Given the description of an element on the screen output the (x, y) to click on. 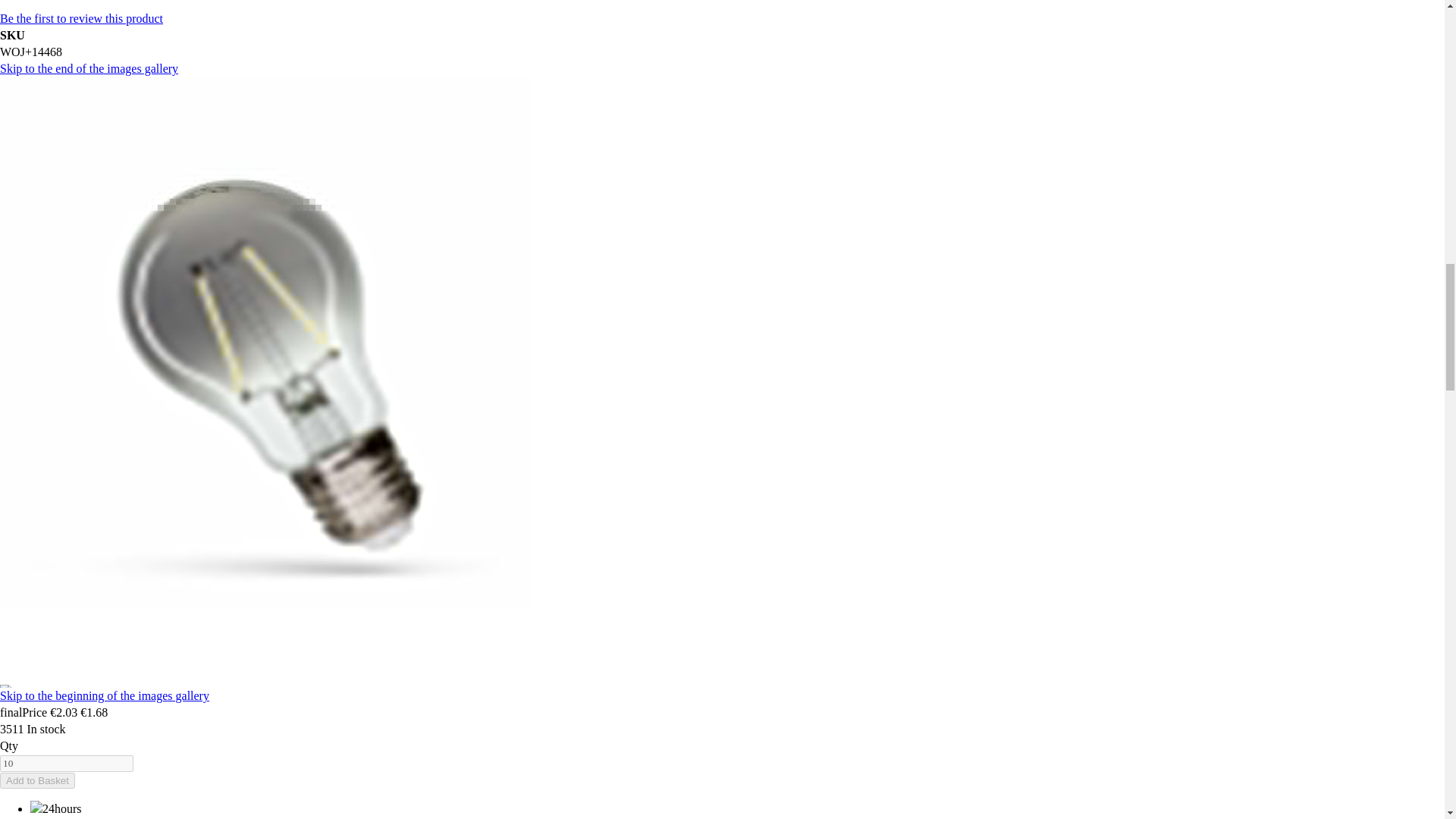
Add to Basket (37, 780)
Qty (66, 763)
10 (66, 763)
